Given the description of an element on the screen output the (x, y) to click on. 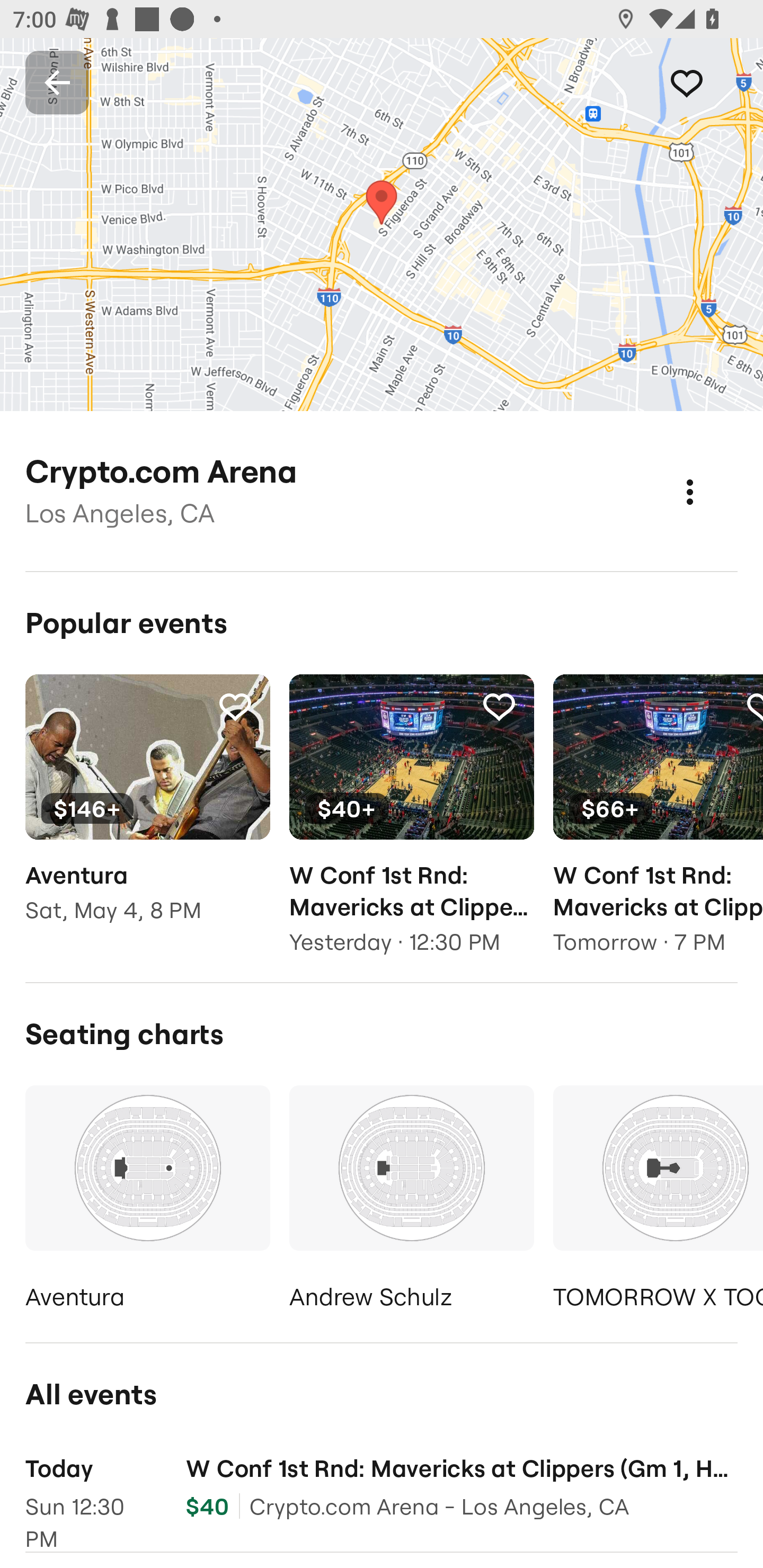
Back (57, 81)
Tracking (705, 81)
See more options (708, 472)
Tracking $146+ Aventura Sat, May 4, 8 PM (147, 811)
Tracking (234, 705)
Tracking (498, 705)
Aventura (147, 1201)
Andrew Schulz (411, 1201)
TOMORROW X TOGETHER (658, 1201)
